Given the description of an element on the screen output the (x, y) to click on. 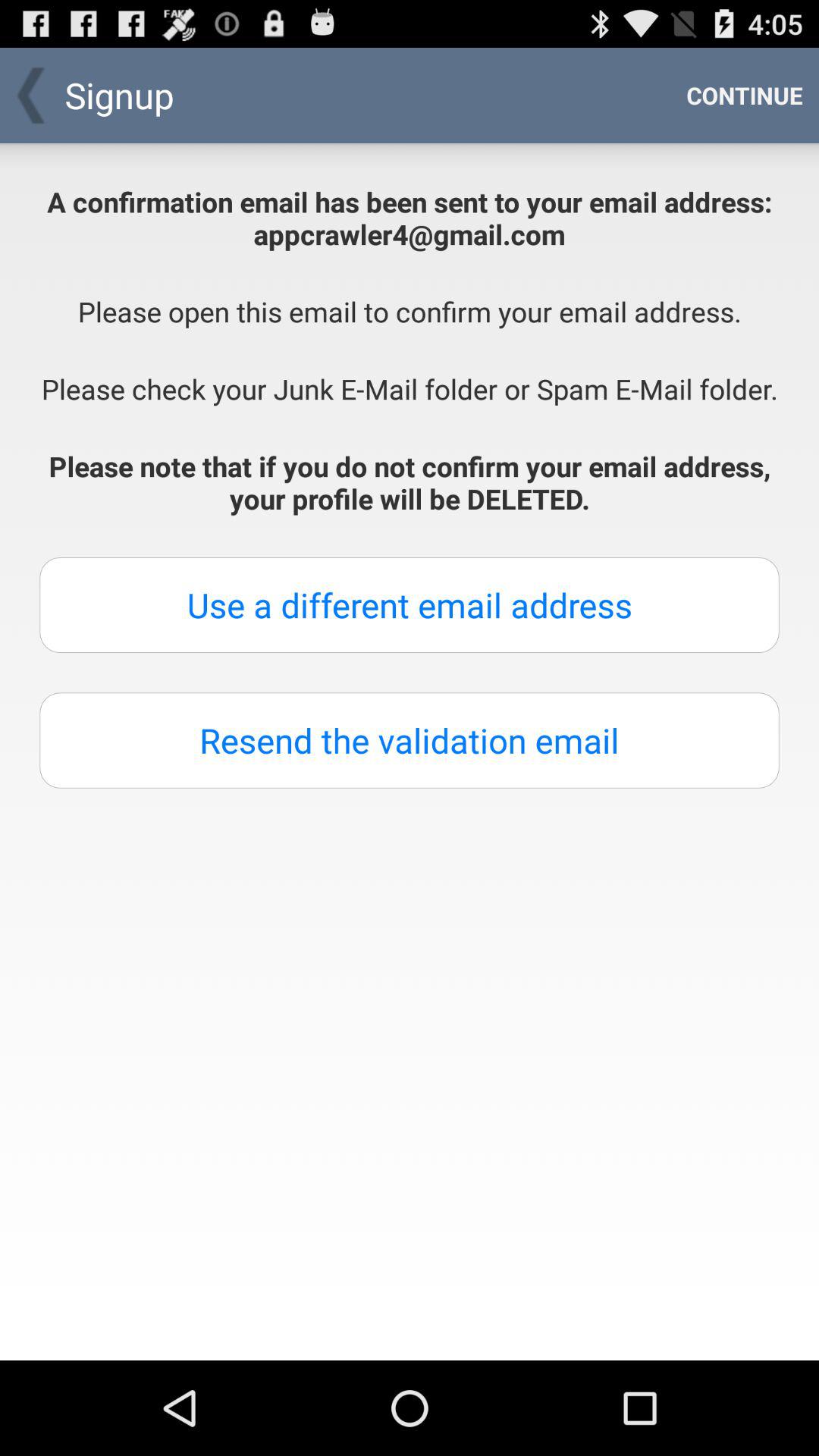
swipe until the use a different (409, 604)
